Given the description of an element on the screen output the (x, y) to click on. 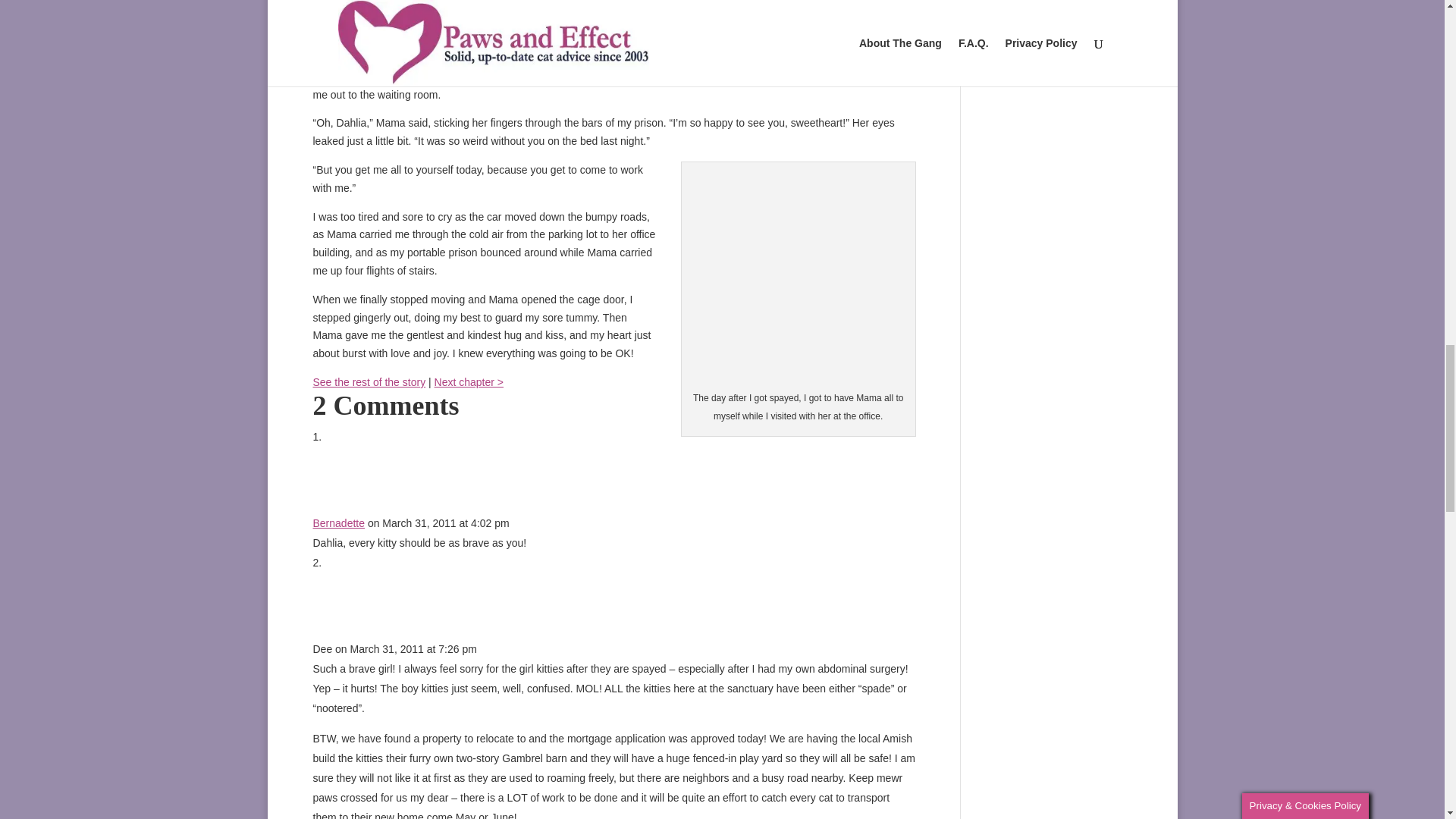
Bernadette (339, 522)
See the rest of the story (369, 381)
